Given the description of an element on the screen output the (x, y) to click on. 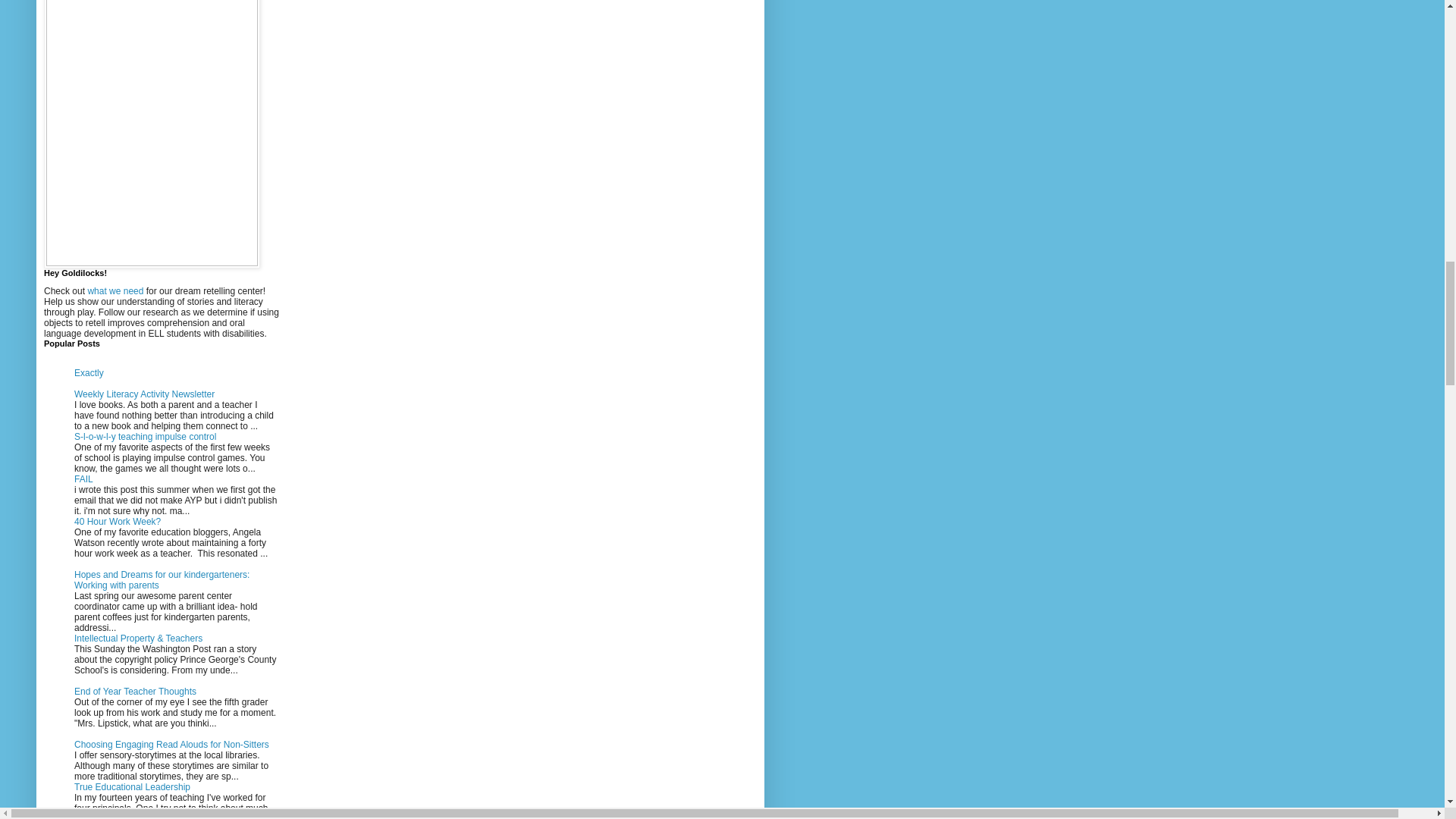
Exactly (88, 372)
S-l-o-w-l-y teaching impulse control (144, 436)
FAIL (83, 479)
40 Hour Work Week? (117, 521)
Weekly Literacy Activity Newsletter (144, 394)
what we need (114, 290)
